Given the description of an element on the screen output the (x, y) to click on. 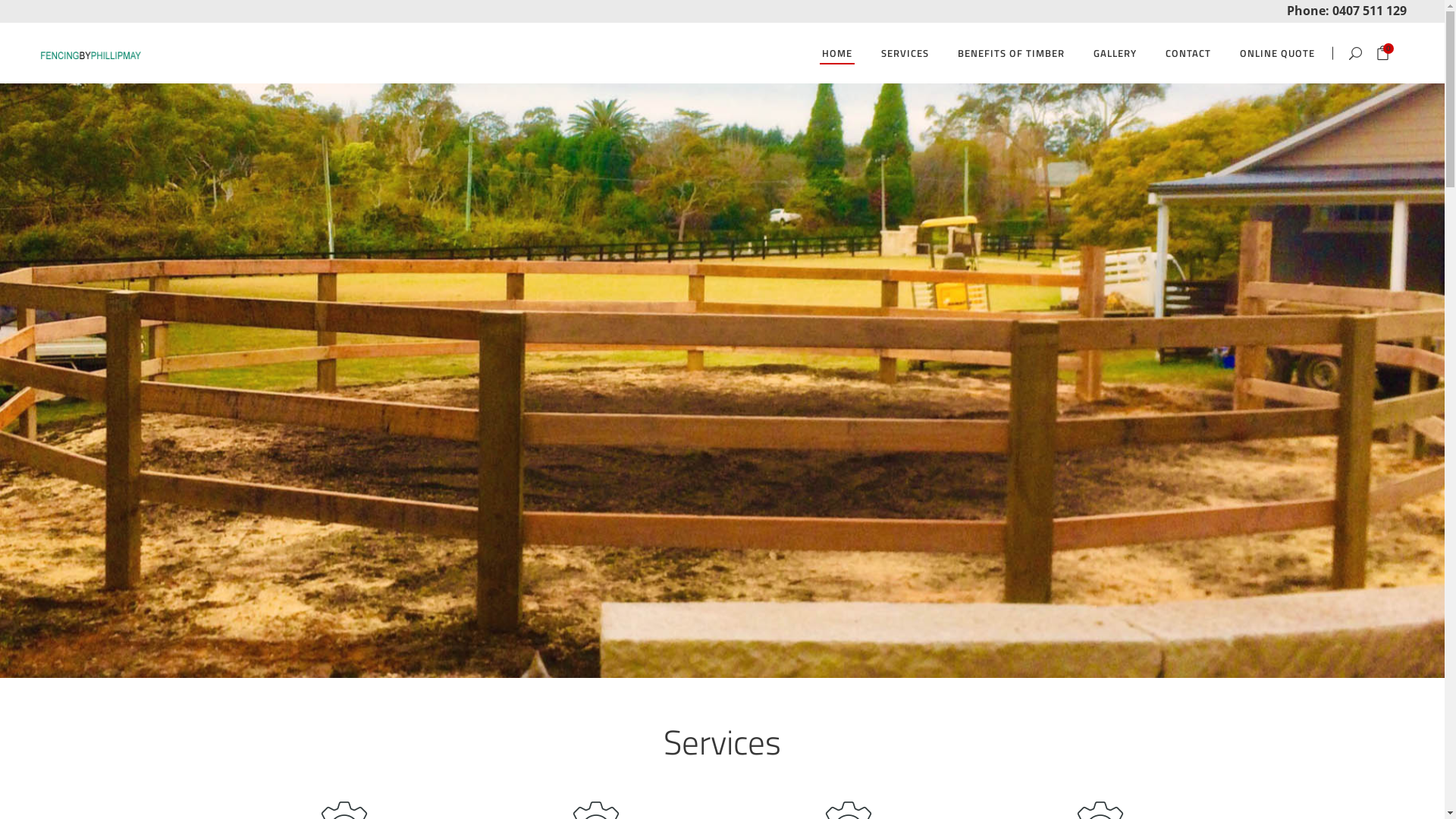
ONLINE QUOTE Element type: text (1277, 52)
HOME Element type: text (836, 52)
BENEFITS OF TIMBER Element type: text (1011, 52)
CONTACT Element type: text (1188, 52)
SERVICES Element type: text (904, 52)
GALLERY Element type: text (1115, 52)
0 Element type: text (1382, 54)
0407 511 129 Element type: text (1369, 9)
